Given the description of an element on the screen output the (x, y) to click on. 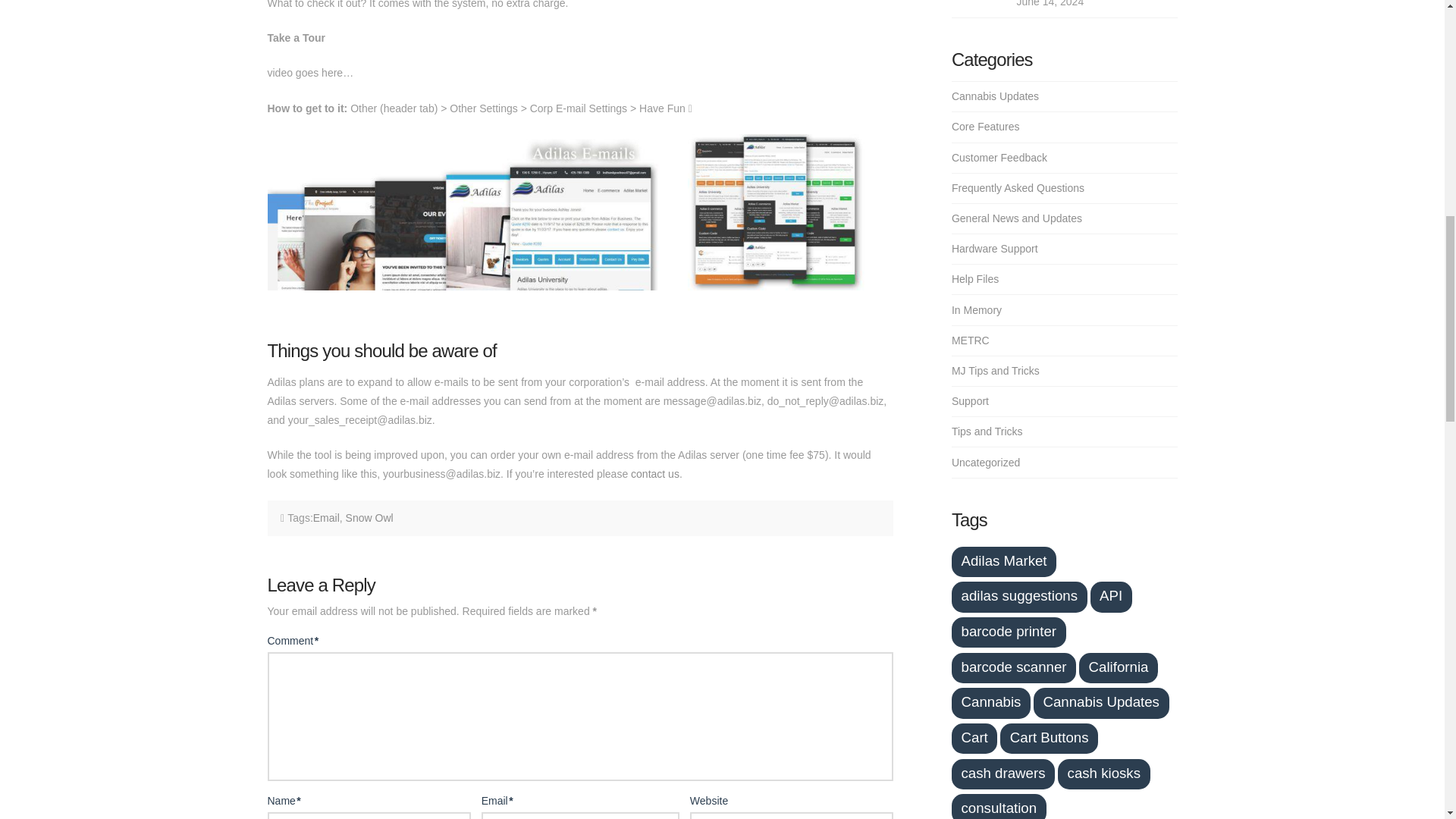
contact us (654, 473)
Email (326, 517)
Snow Owl (369, 517)
